Given the description of an element on the screen output the (x, y) to click on. 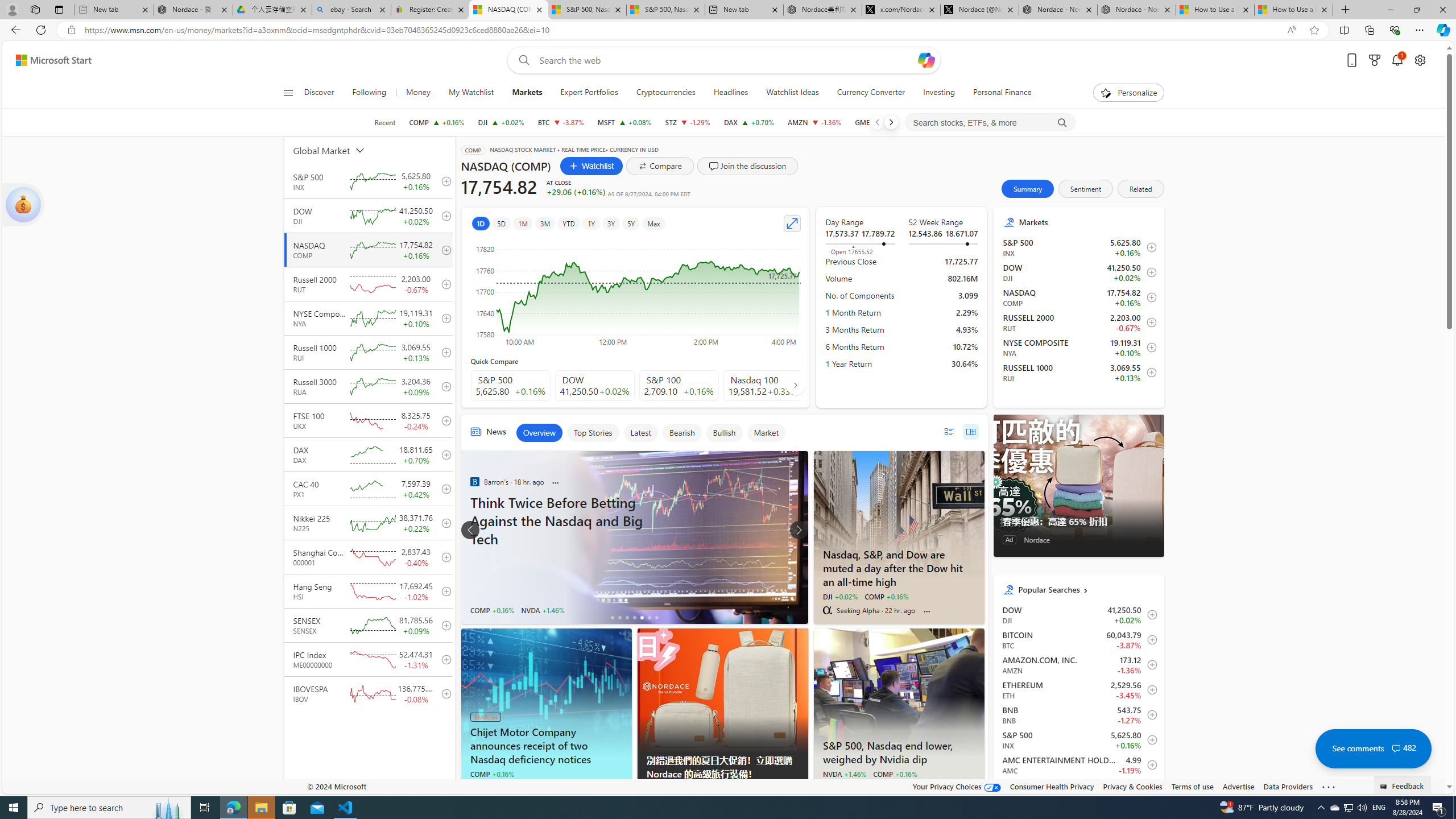
ebay - Search (351, 9)
Markets (526, 92)
New tab - Sleeping (113, 9)
Barron's (474, 481)
Max (653, 223)
Watchlist Ideas (792, 92)
GME GAMESTOP CORP. decrease 20.74 -0.62 -2.90% (879, 122)
Consumer Health Privacy (1051, 786)
Open settings (1420, 60)
My Watchlist (471, 92)
